Given the description of an element on the screen output the (x, y) to click on. 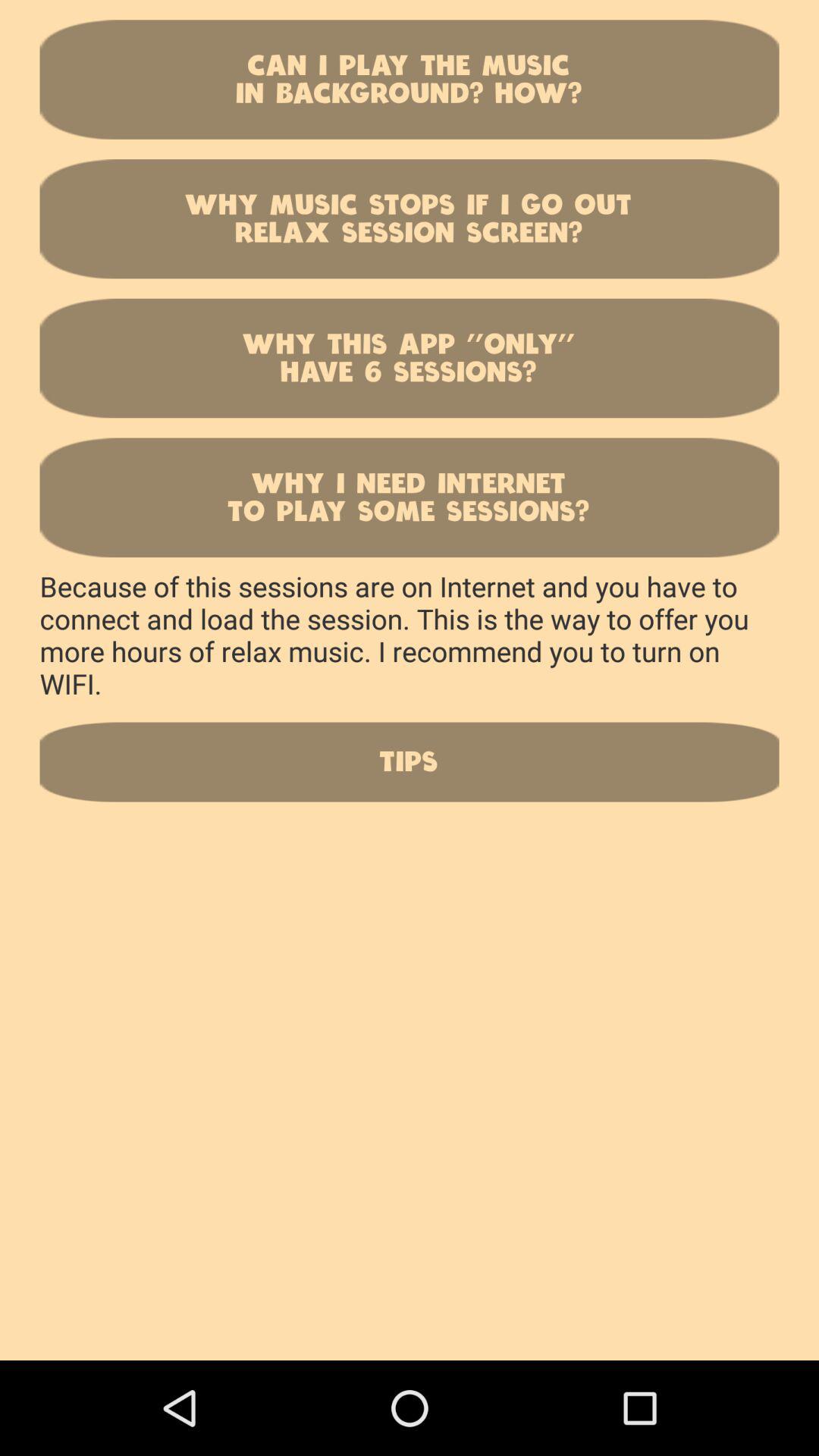
jump until the tips icon (409, 761)
